Given the description of an element on the screen output the (x, y) to click on. 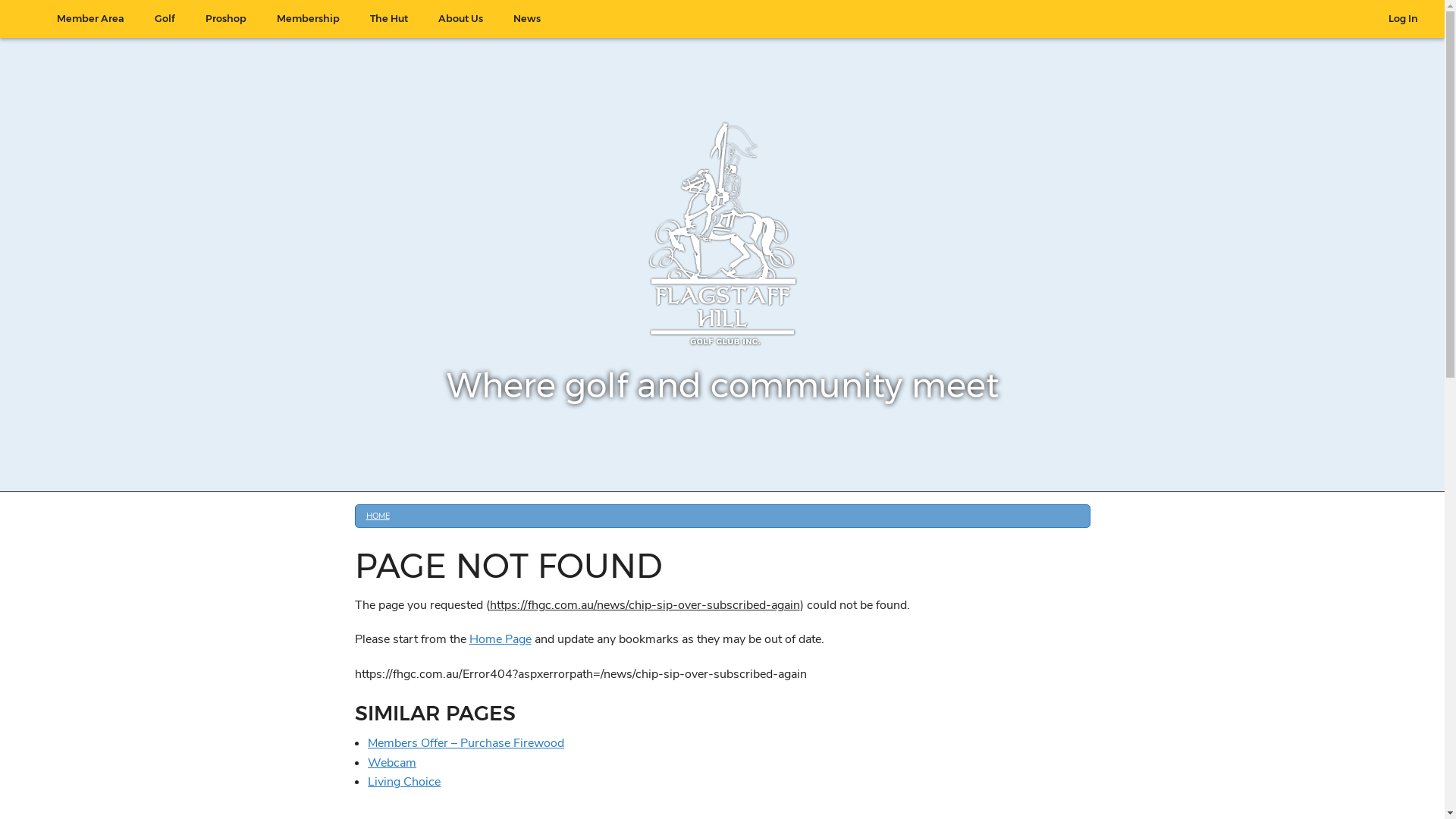
News Element type: text (526, 18)
Golf Element type: text (164, 18)
Log In Element type: text (1403, 18)
Proshop Element type: text (225, 18)
About Us Element type: text (460, 18)
The Hut Element type: text (388, 18)
Home Element type: hover (26, 11)
Home Page Element type: text (499, 638)
Webcam Element type: text (391, 762)
Member Area Element type: text (90, 18)
HOME Element type: text (377, 515)
Membership Element type: text (307, 18)
Living Choice Element type: text (403, 781)
